Given the description of an element on the screen output the (x, y) to click on. 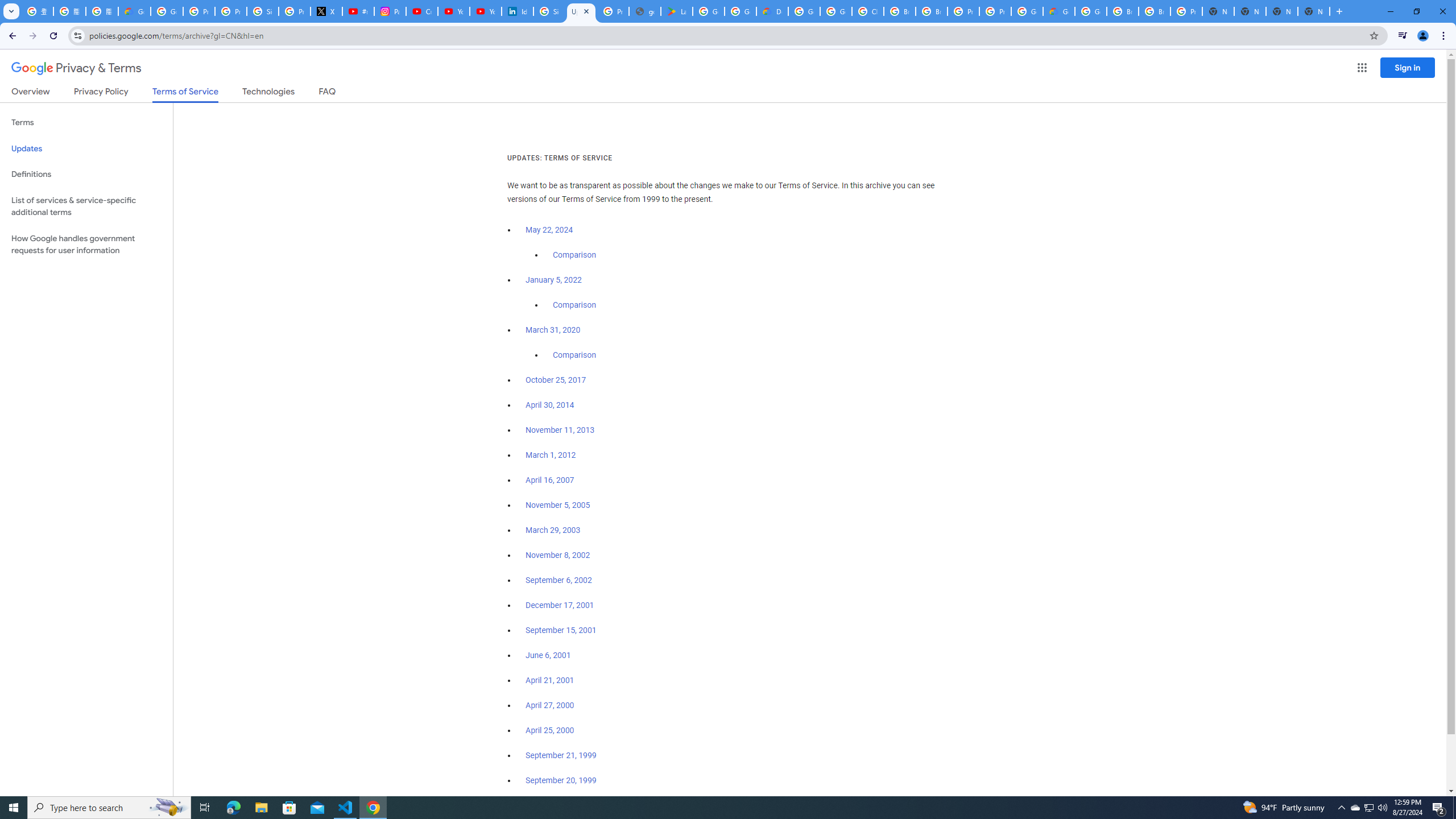
Sign in - Google Accounts (549, 11)
YouTube Culture & Trends - YouTube Top 10, 2021 (485, 11)
X (326, 11)
September 6, 2002 (558, 579)
January 5, 2022 (553, 280)
November 11, 2013 (560, 430)
